Given the description of an element on the screen output the (x, y) to click on. 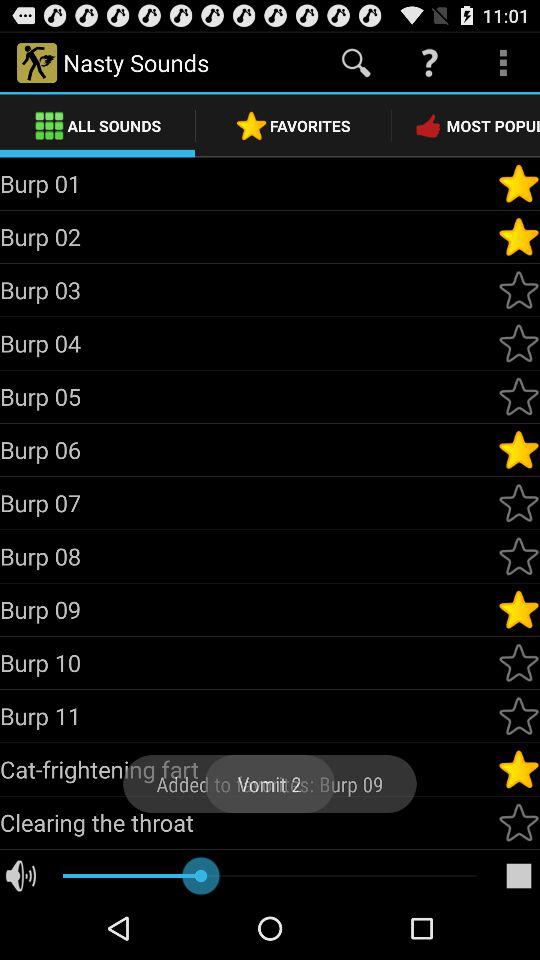
favorite (519, 769)
